Given the description of an element on the screen output the (x, y) to click on. 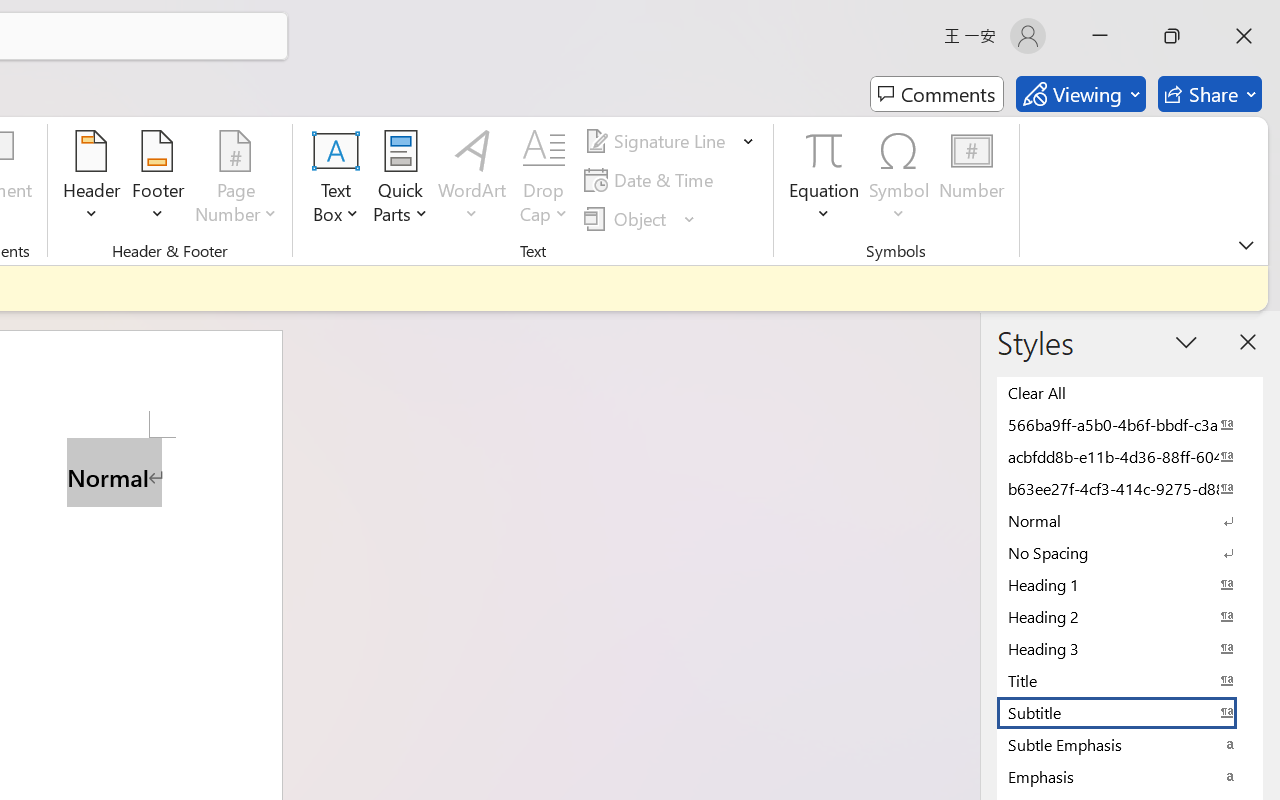
Heading 2 (1130, 616)
Clear All (1130, 392)
Page Number (236, 179)
Subtle Emphasis (1130, 744)
Signature Line (658, 141)
WordArt (472, 179)
Quick Parts (400, 179)
Emphasis (1130, 776)
